Given the description of an element on the screen output the (x, y) to click on. 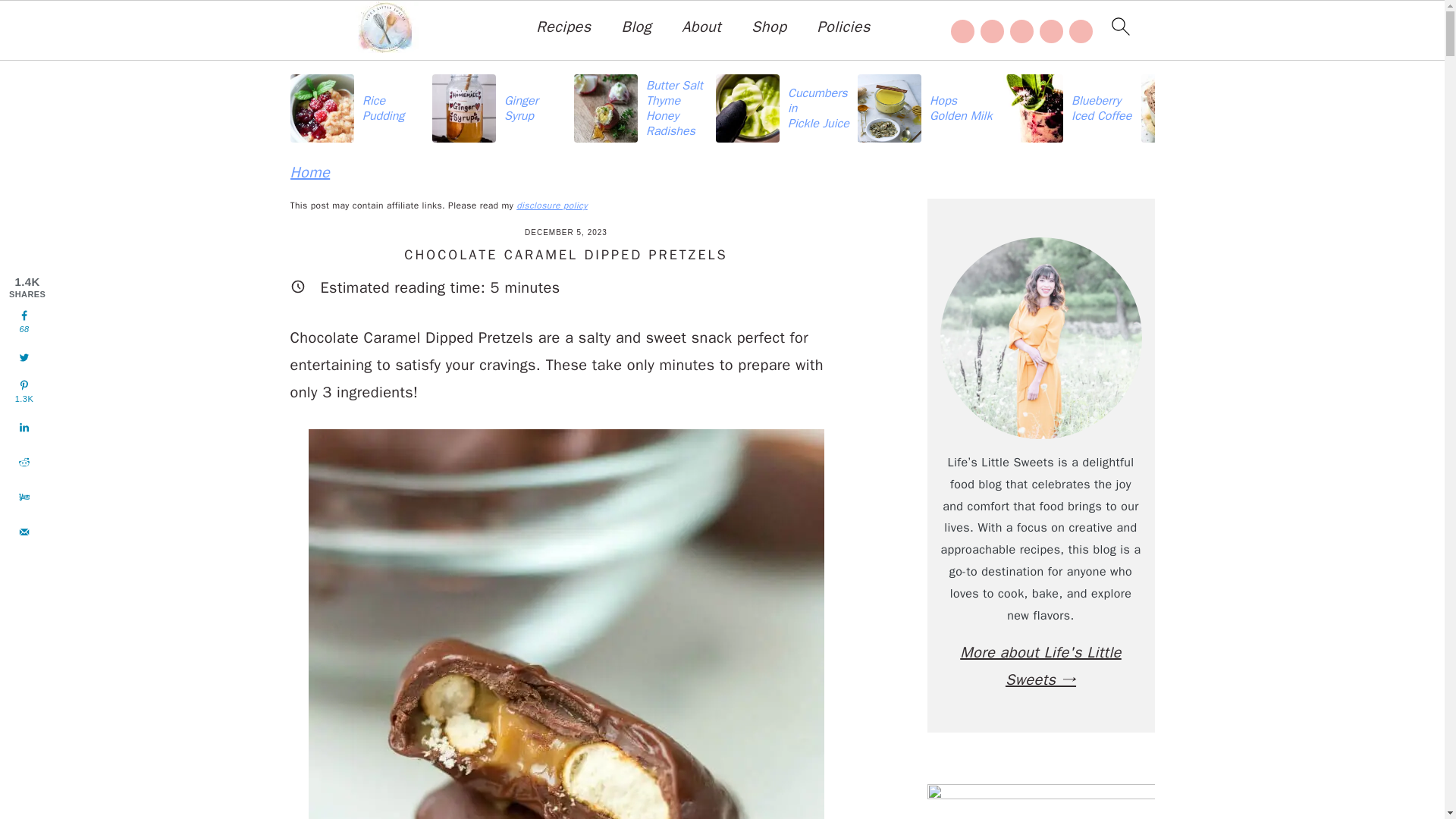
Facebook (962, 30)
Instagram (992, 30)
search icon (1119, 26)
Pinterest (1021, 30)
YouTube (1080, 30)
Twitter (1051, 30)
